Given the description of an element on the screen output the (x, y) to click on. 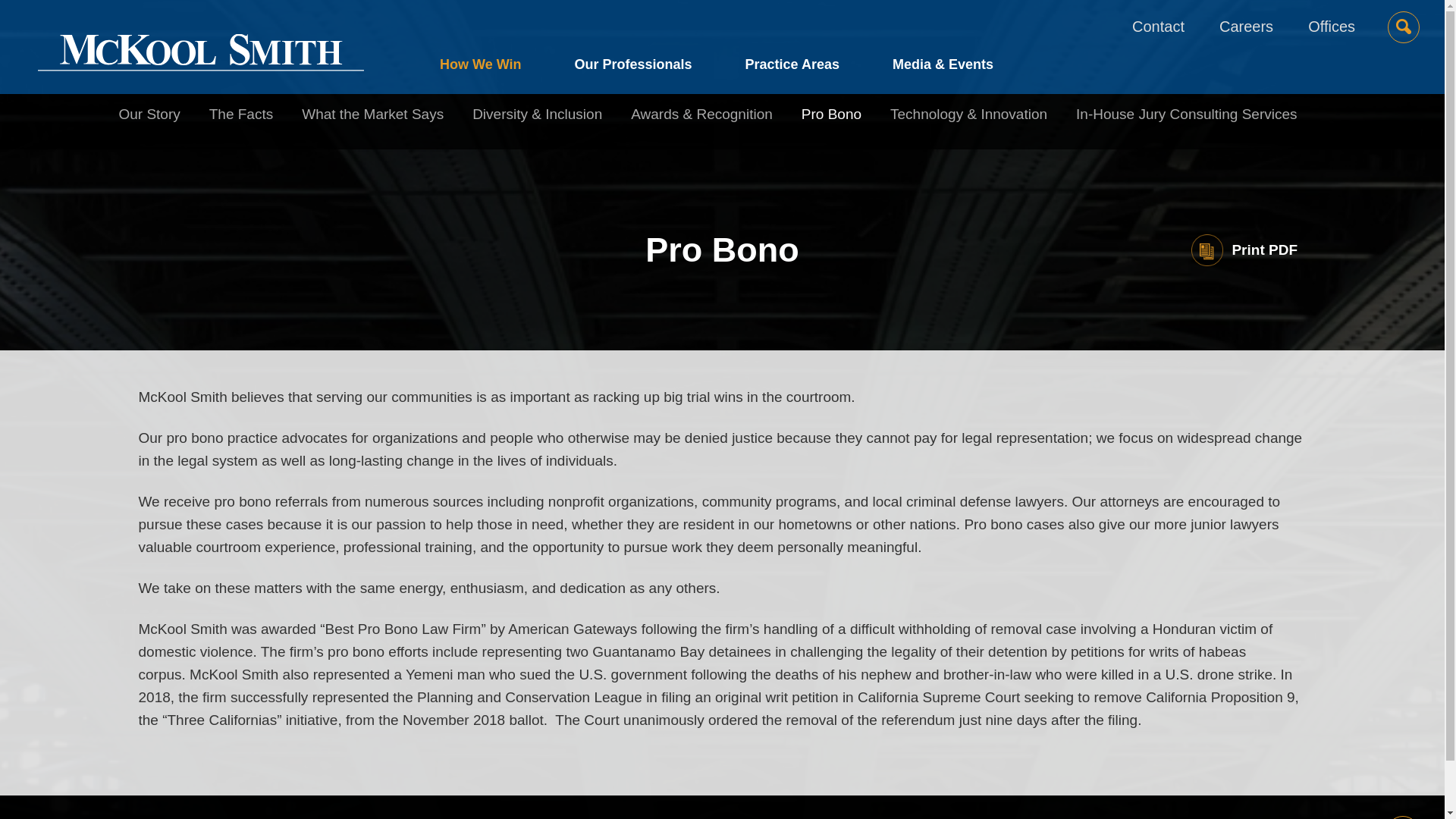
Menu (674, 19)
Main Menu (674, 19)
Practice Areas (792, 68)
Main Content (667, 19)
Our Professionals (632, 68)
How We Win (493, 68)
